Given the description of an element on the screen output the (x, y) to click on. 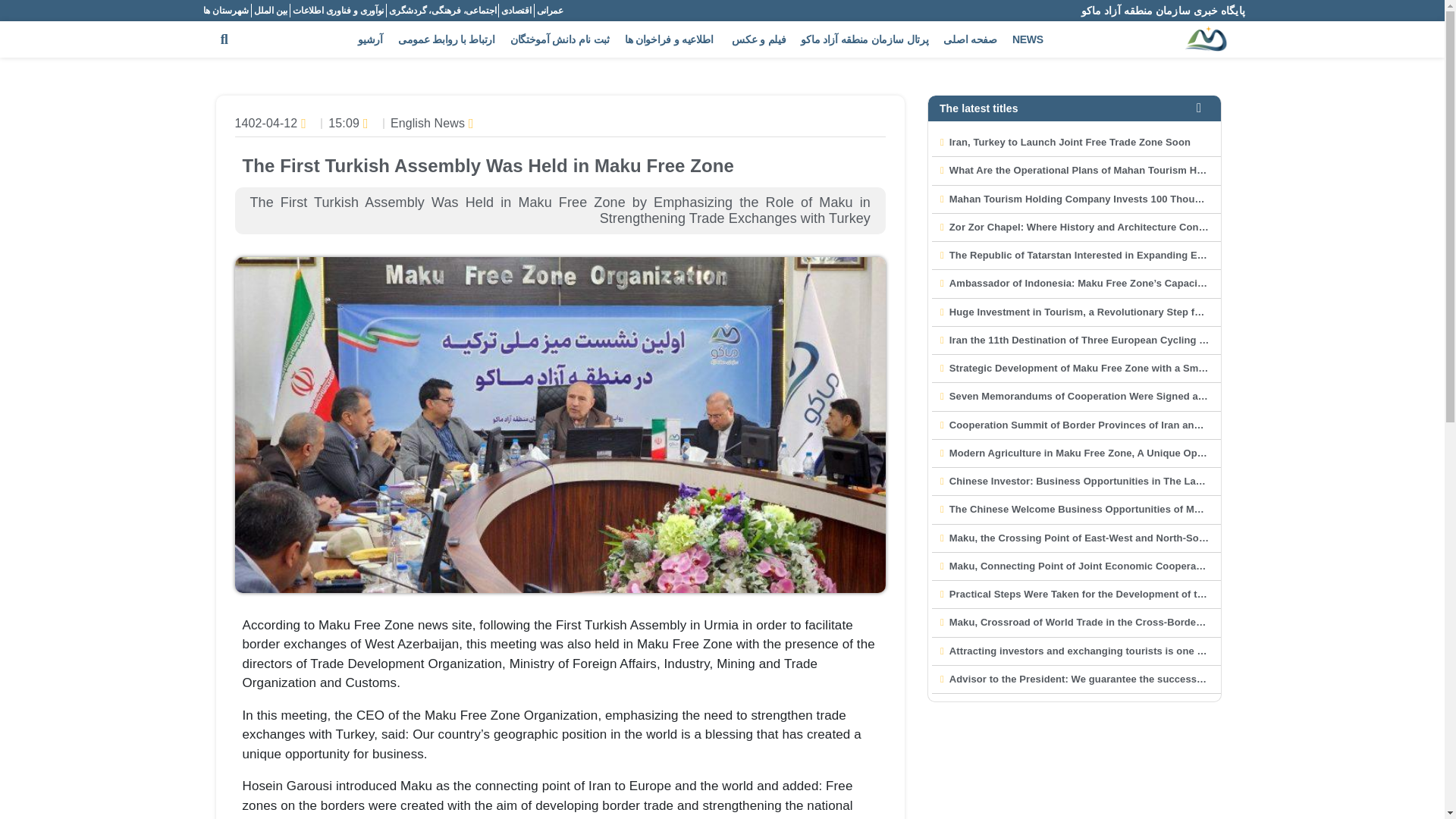
Iran, Turkey to Launch Joint Free Trade Zone Soon (1070, 142)
Iran the 11th Destination of Three European Cycling Tourists (1094, 339)
NEWS (1027, 39)
